Given the description of an element on the screen output the (x, y) to click on. 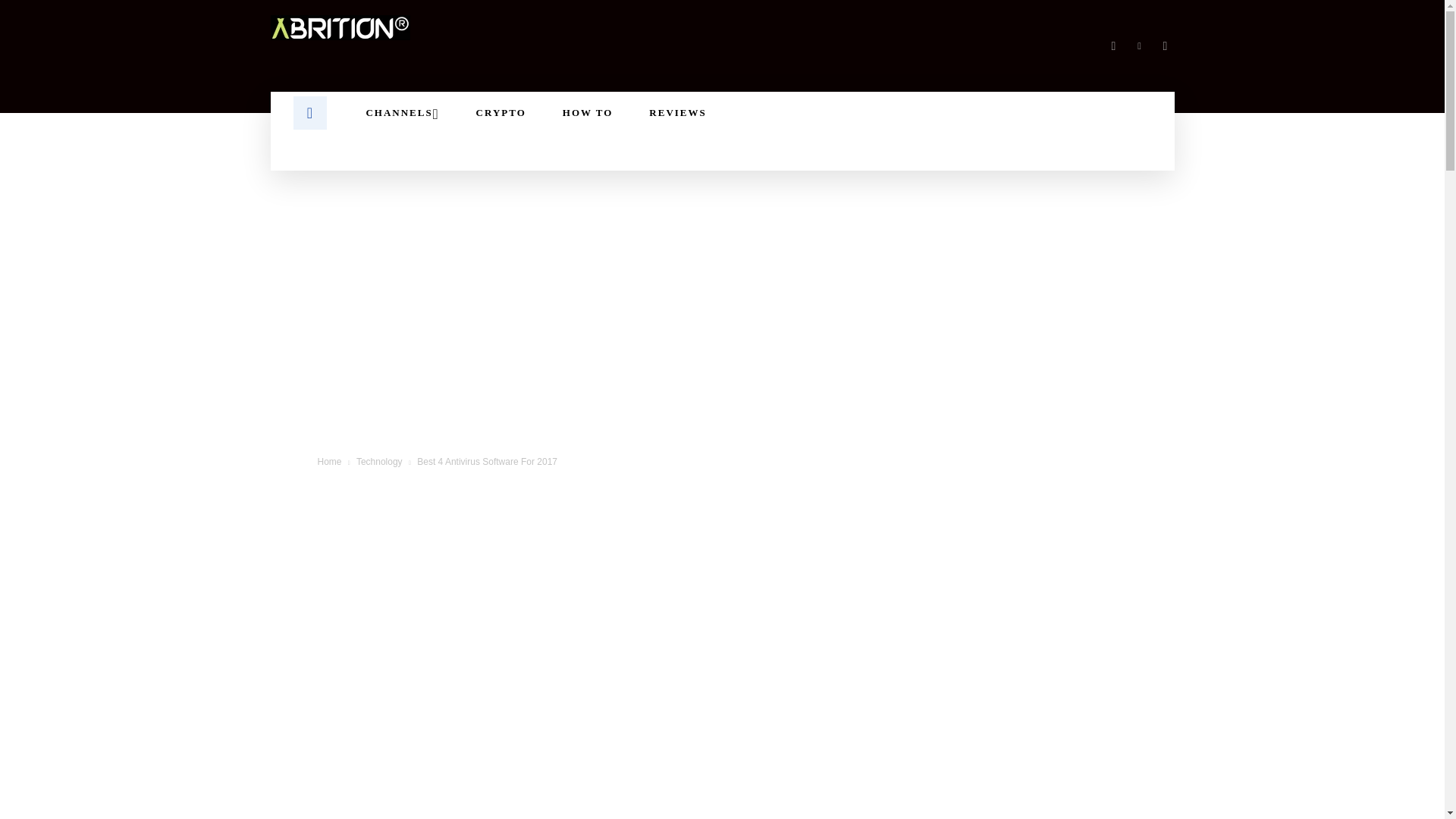
Twitter (1164, 45)
Pinterest (1138, 45)
View all posts in Technology (379, 461)
Facebook (1112, 45)
